Given the description of an element on the screen output the (x, y) to click on. 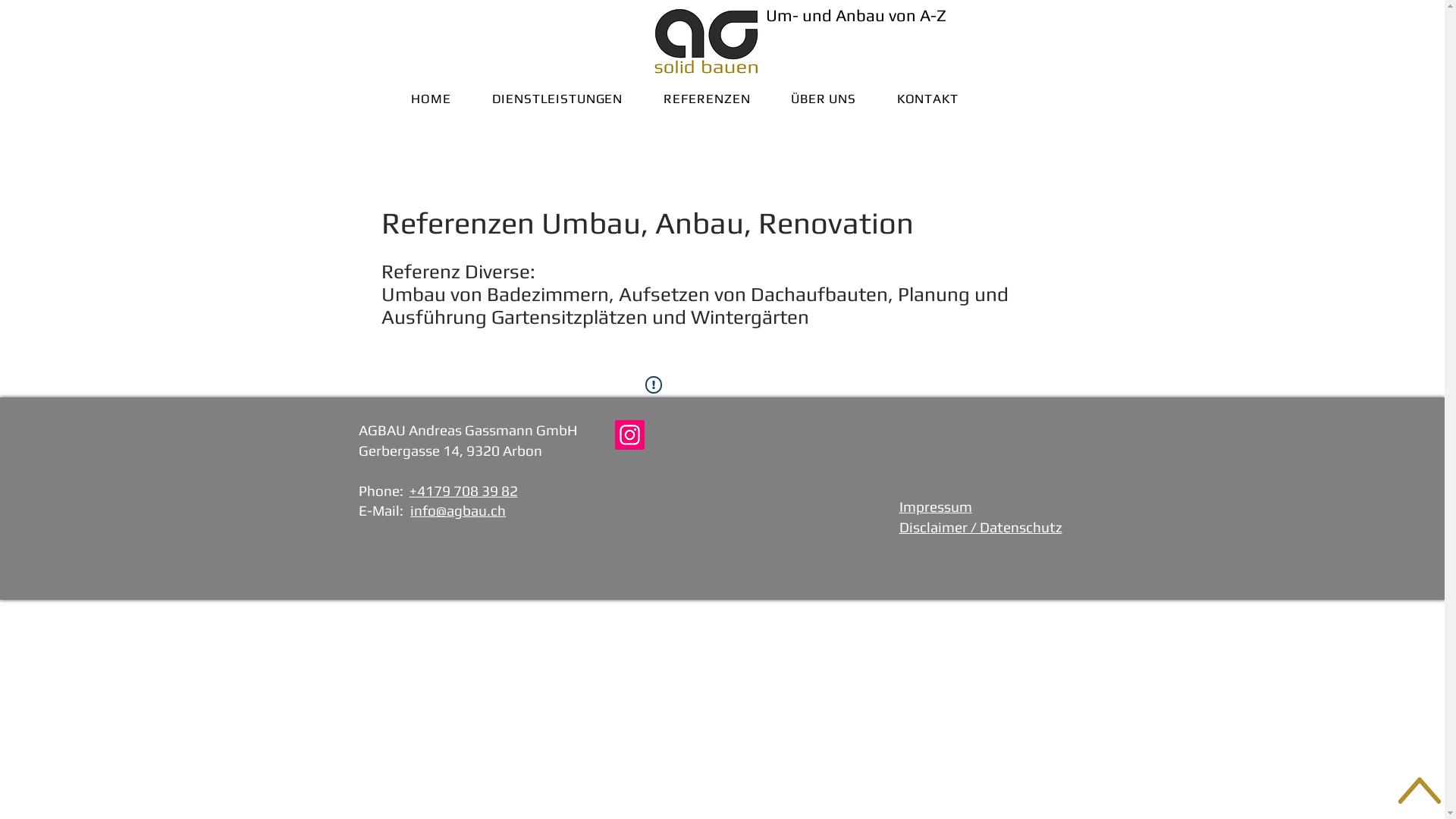
+4179 708 39 82 Element type: text (463, 490)
Disclaimer / Datenschutz Element type: text (980, 526)
REFERENZEN Element type: text (706, 98)
KONTAKT Element type: text (927, 98)
HOME Element type: text (431, 98)
info@agbau.ch Element type: text (457, 510)
DIENSTLEISTUNGEN Element type: text (557, 98)
Impressum Element type: text (935, 506)
